Given the description of an element on the screen output the (x, y) to click on. 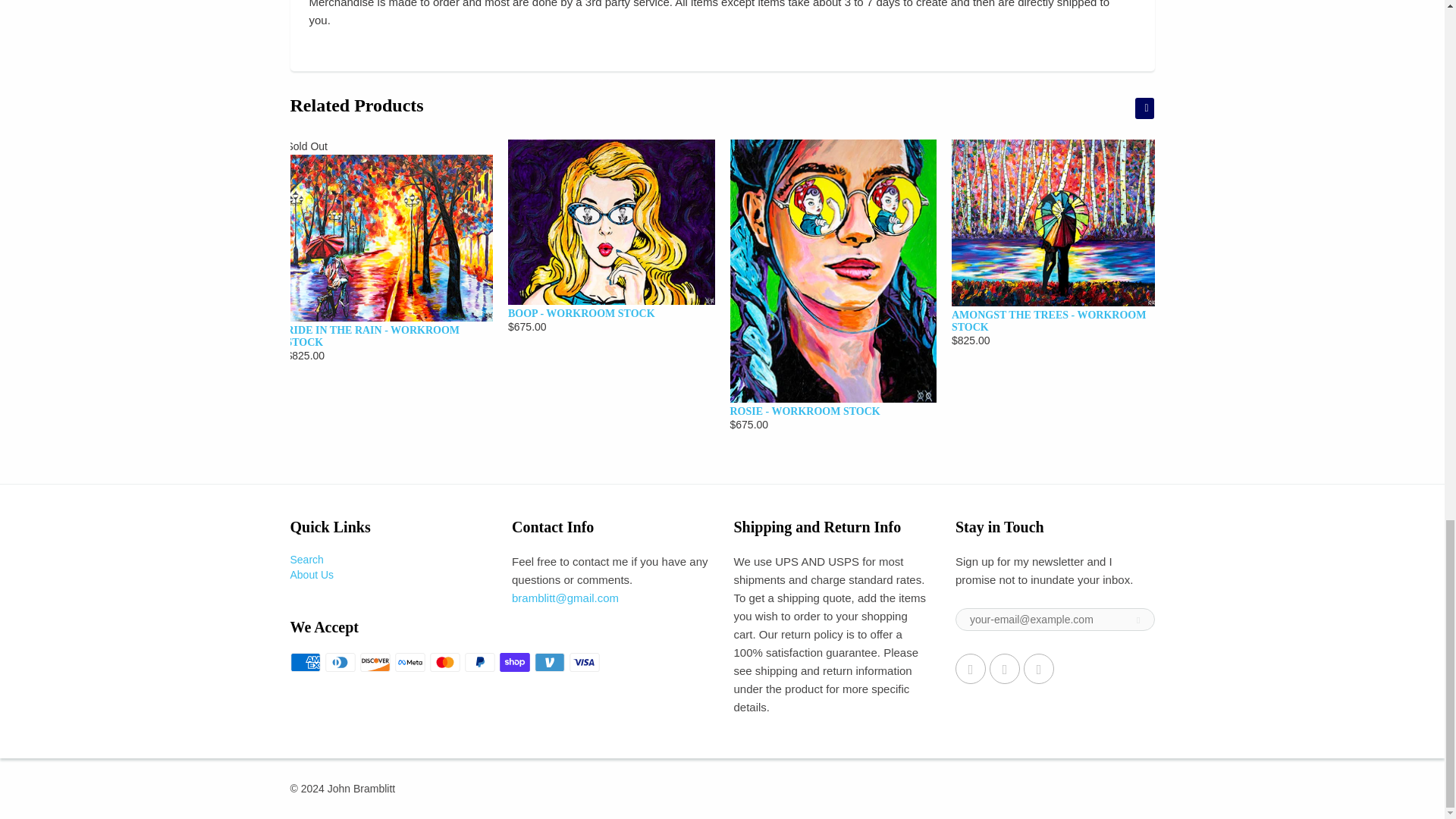
Twitter (970, 668)
Facebook (1005, 668)
Instagram (1038, 668)
